Given the description of an element on the screen output the (x, y) to click on. 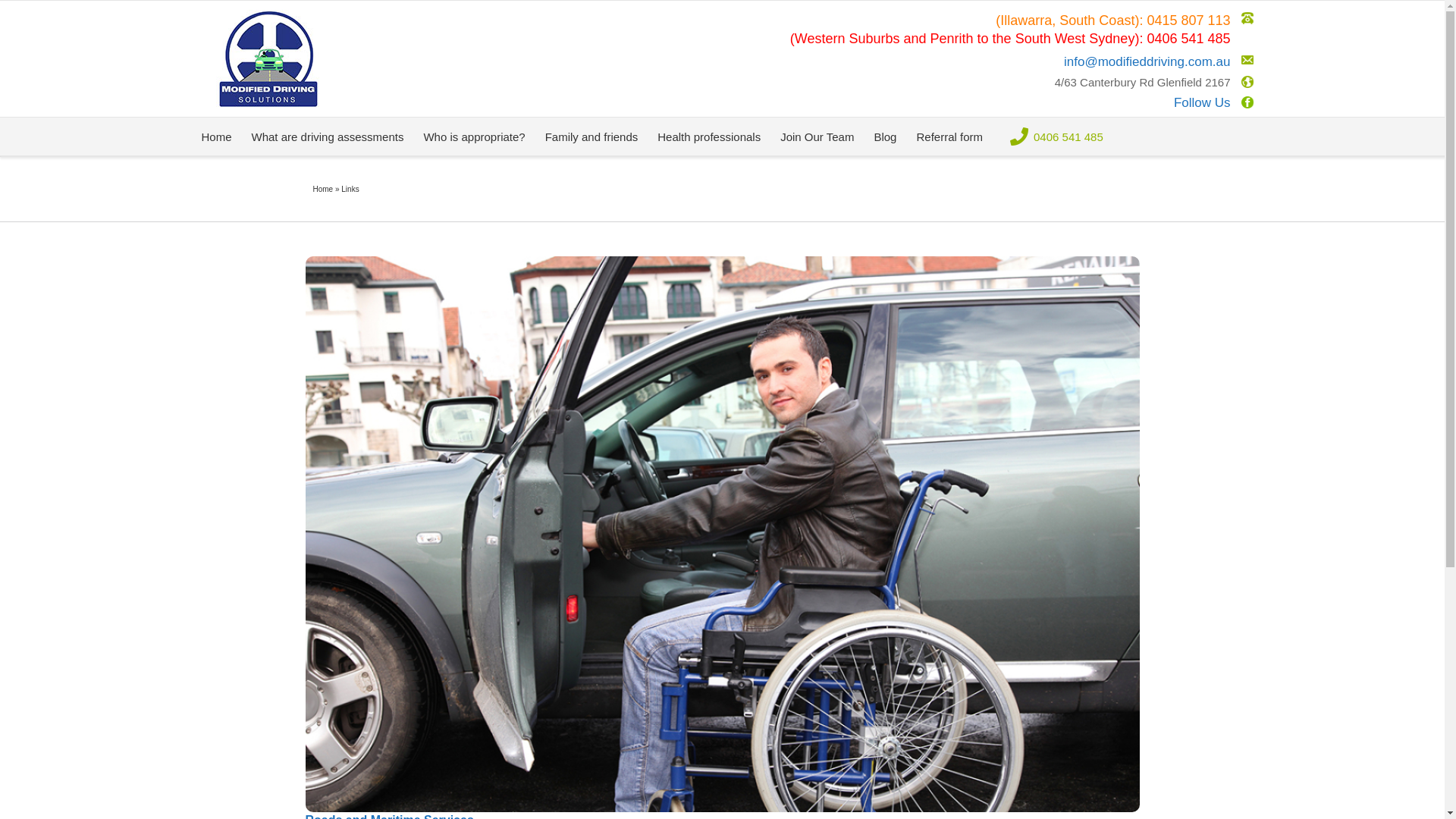
Follow Us Element type: text (1011, 103)
Home Element type: text (322, 189)
info@modifieddriving.com.au Element type: text (1011, 62)
Blog Element type: text (884, 136)
0415 807 113 Element type: text (1188, 21)
Who is appropriate? Element type: text (473, 136)
Home Element type: text (216, 136)
Family and friends Element type: text (591, 136)
0406 541 485 Element type: text (1188, 39)
Join Our Team Element type: text (816, 136)
Referral form Element type: text (949, 136)
Health professionals Element type: text (708, 136)
What are driving assessments Element type: text (327, 136)
0406 541 485 Element type: text (1052, 136)
